Given the description of an element on the screen output the (x, y) to click on. 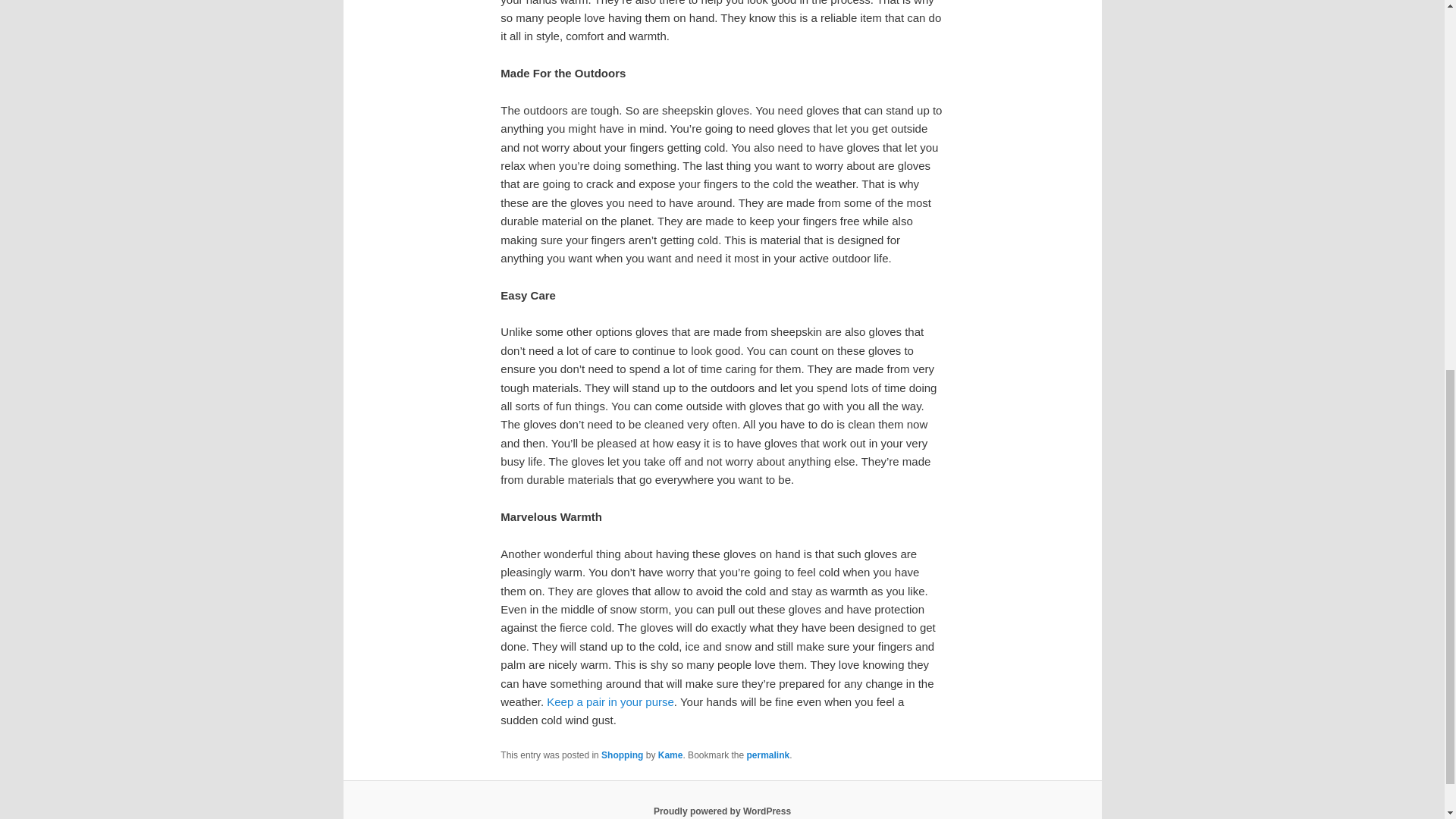
permalink (767, 755)
Keep a pair in your purse (610, 701)
Kame (670, 755)
Proudly powered by WordPress (721, 810)
Shopping (622, 755)
Semantic Personal Publishing Platform (721, 810)
